Given the description of an element on the screen output the (x, y) to click on. 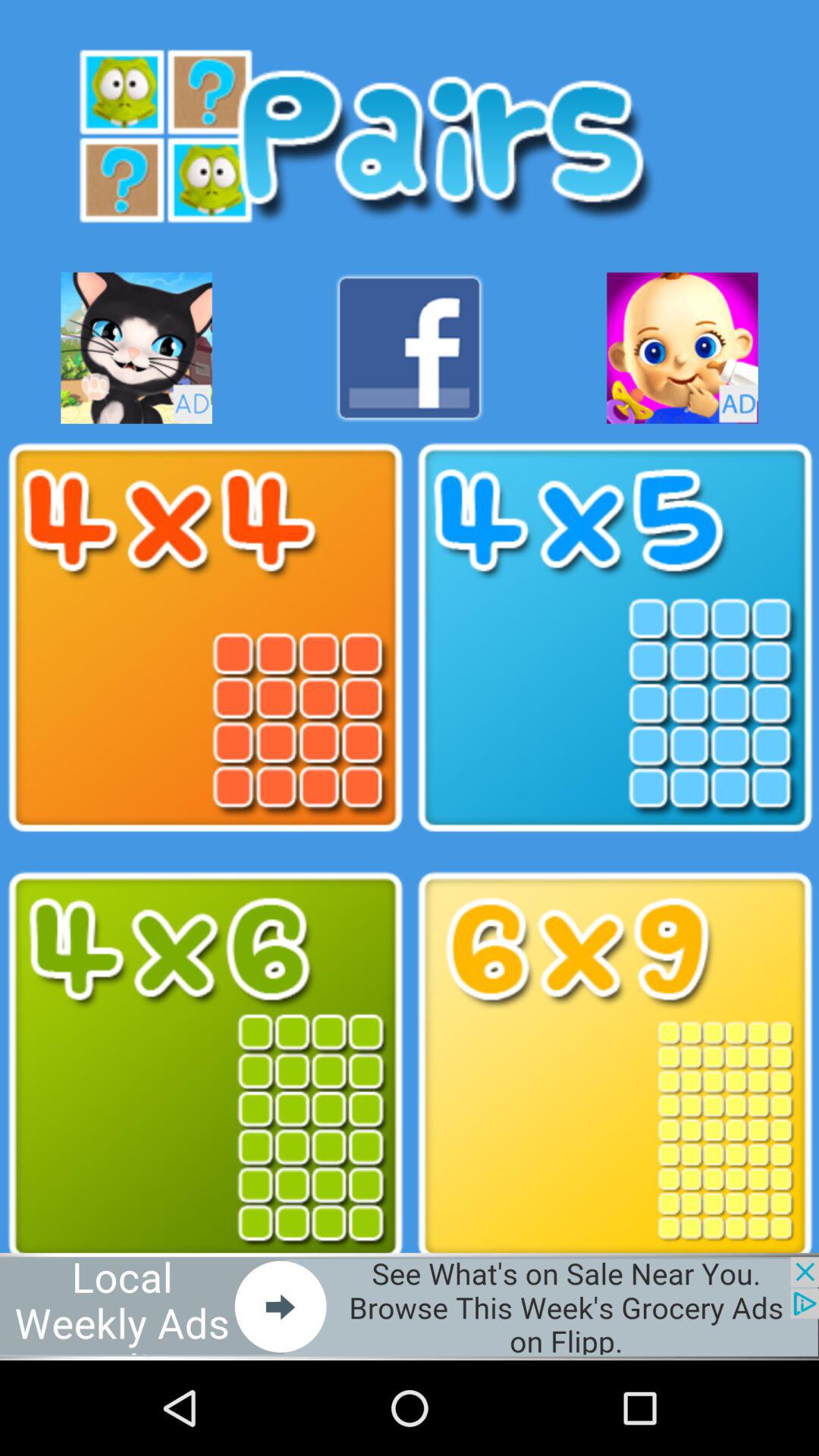
adding in the maths (614, 637)
